Given the description of an element on the screen output the (x, y) to click on. 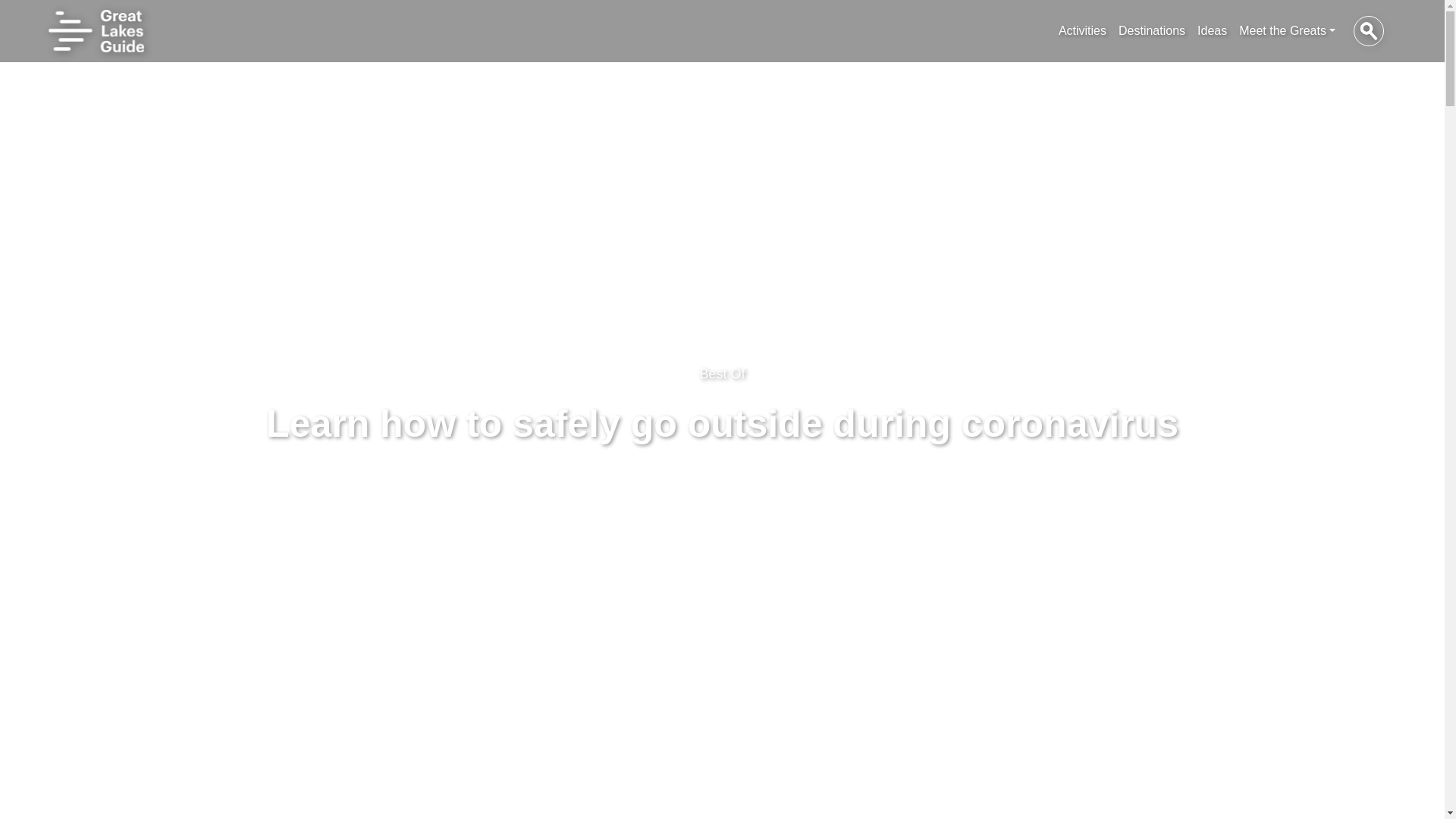
Destinations (1151, 30)
Meet the Greats (1286, 30)
Ideas (1212, 30)
Activities (1082, 30)
